Given the description of an element on the screen output the (x, y) to click on. 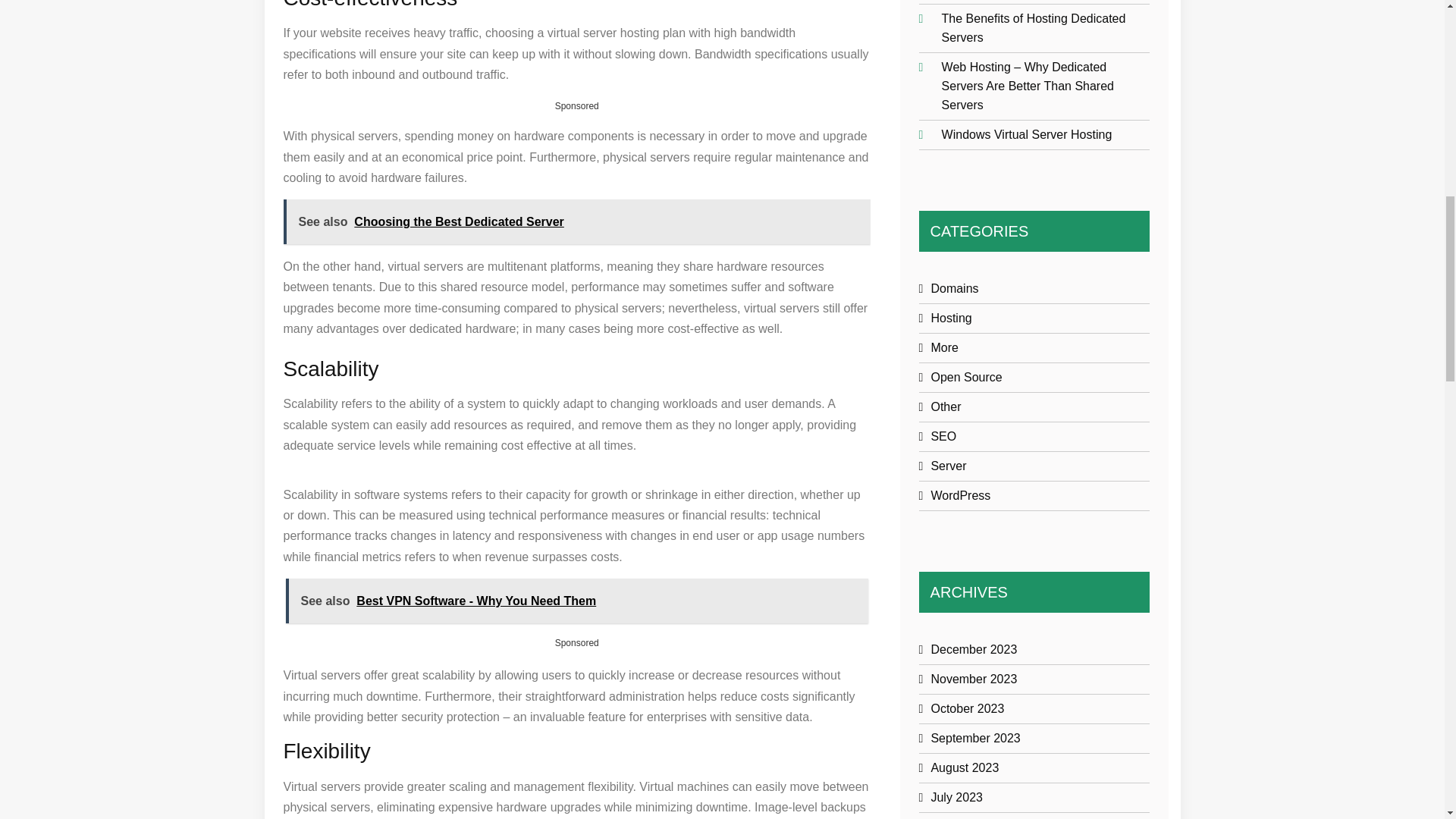
See also  Choosing the Best Dedicated Server (576, 221)
